Given the description of an element on the screen output the (x, y) to click on. 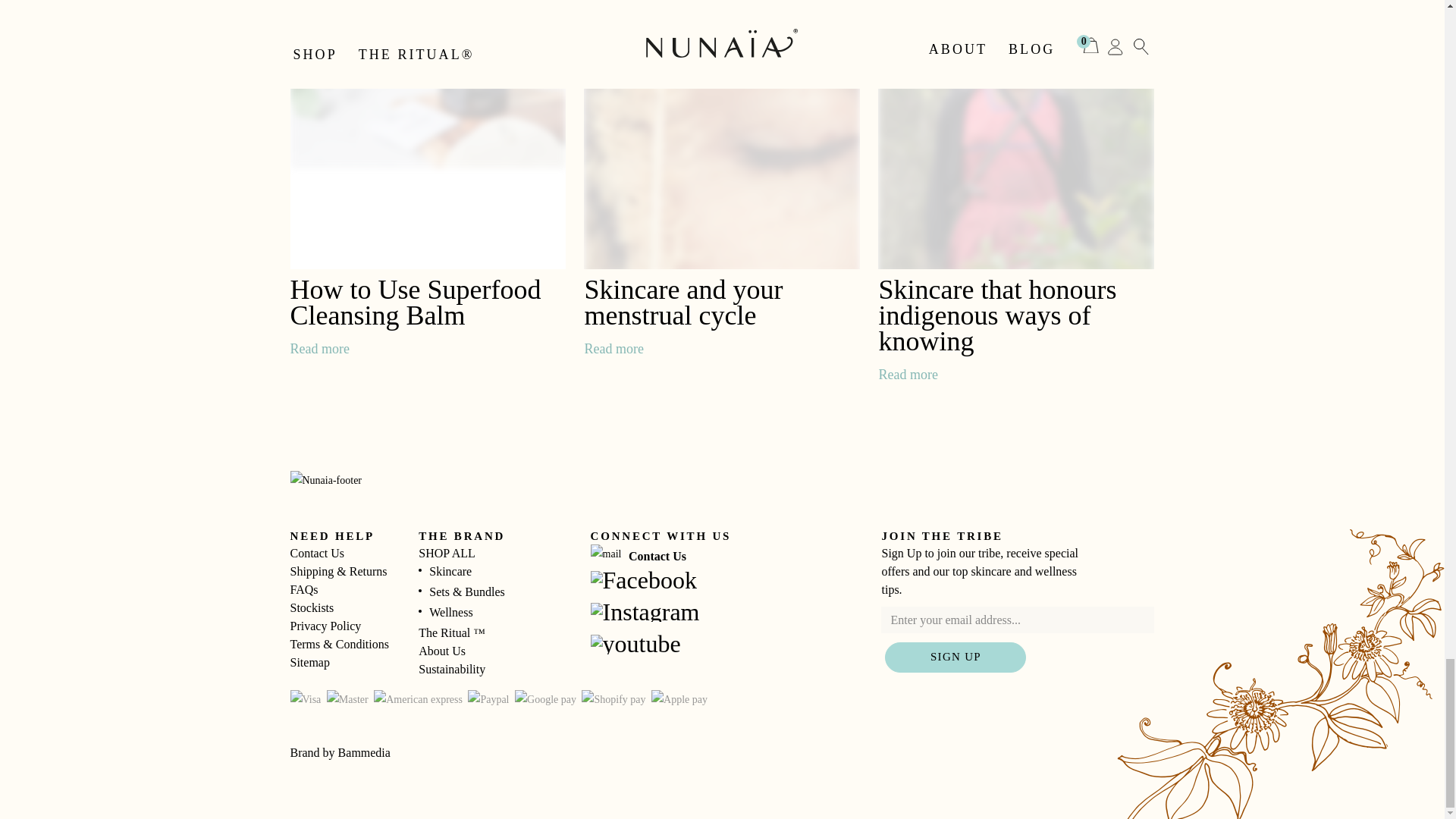
How to Use Superfood Cleansing Balm (427, 134)
How to Use Superfood Cleansing Balm (319, 348)
SIGN UP (955, 657)
How to Use Superfood Cleansing Balm (414, 302)
